Given the description of an element on the screen output the (x, y) to click on. 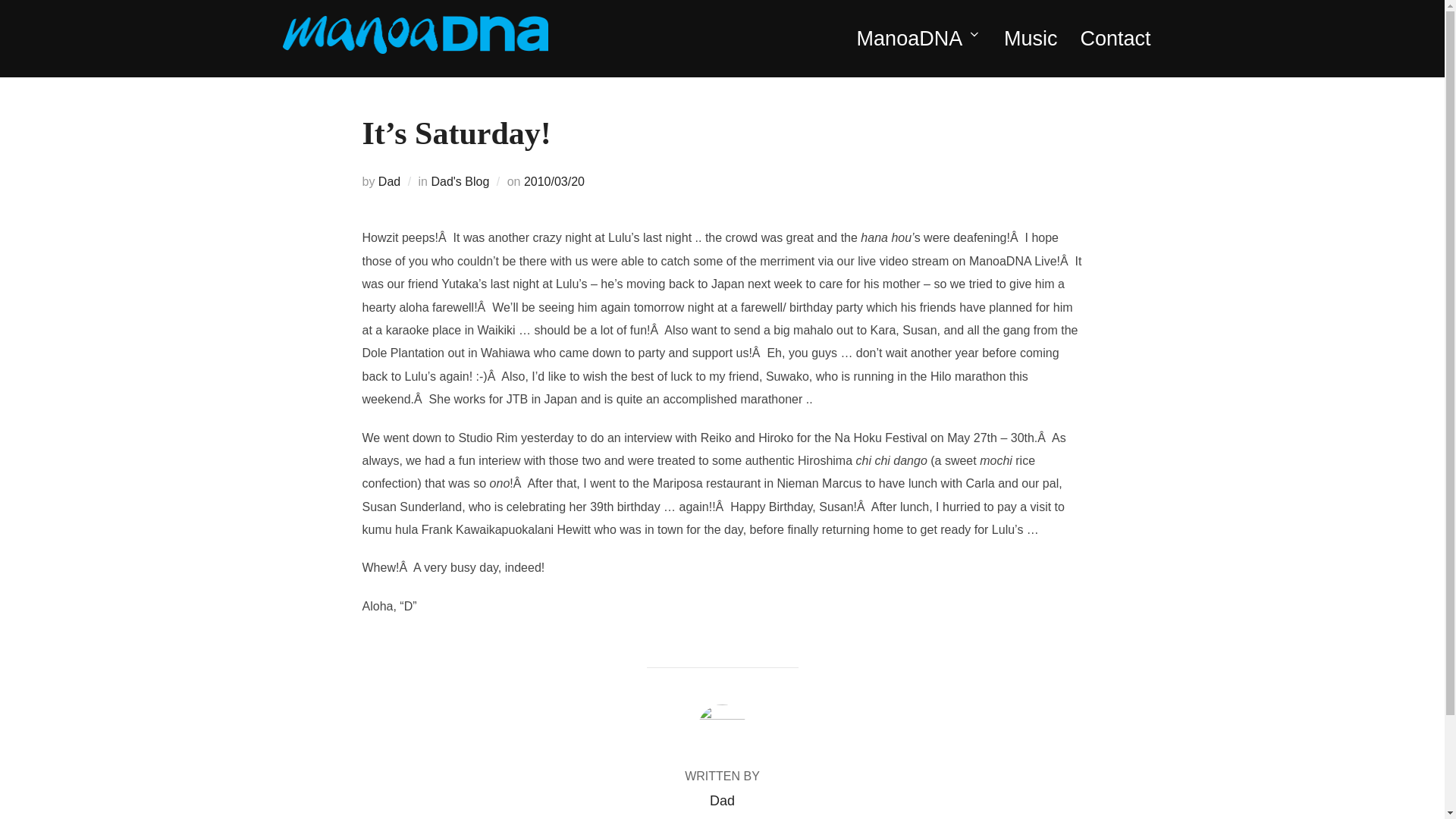
Posts by Dad (722, 800)
Contact ManoaDNA (1115, 38)
Contact (1115, 38)
Dad's Blog (459, 181)
Dad (722, 800)
Music (1031, 38)
Dad (389, 181)
ManoaDNA (919, 38)
